Given the description of an element on the screen output the (x, y) to click on. 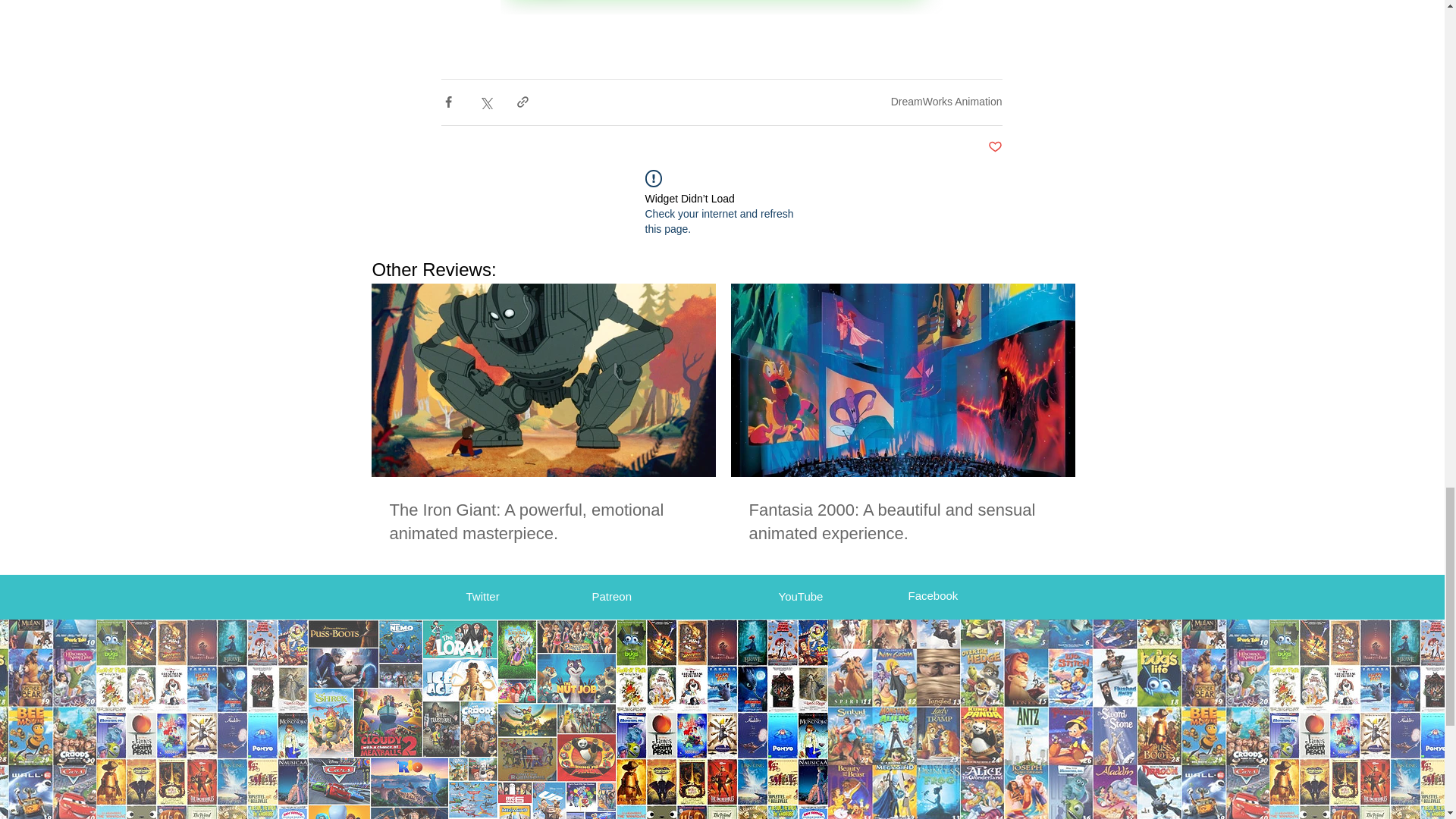
Twitter (482, 595)
Fantasia 2000: A beautiful and sensual animated experience. (903, 522)
YouTube (799, 595)
The Iron Giant: A powerful, emotional animated masterpiece. (543, 522)
Facebook (933, 594)
Patreon (611, 595)
DreamWorks Animation (947, 101)
Post not marked as liked (994, 147)
